Given the description of an element on the screen output the (x, y) to click on. 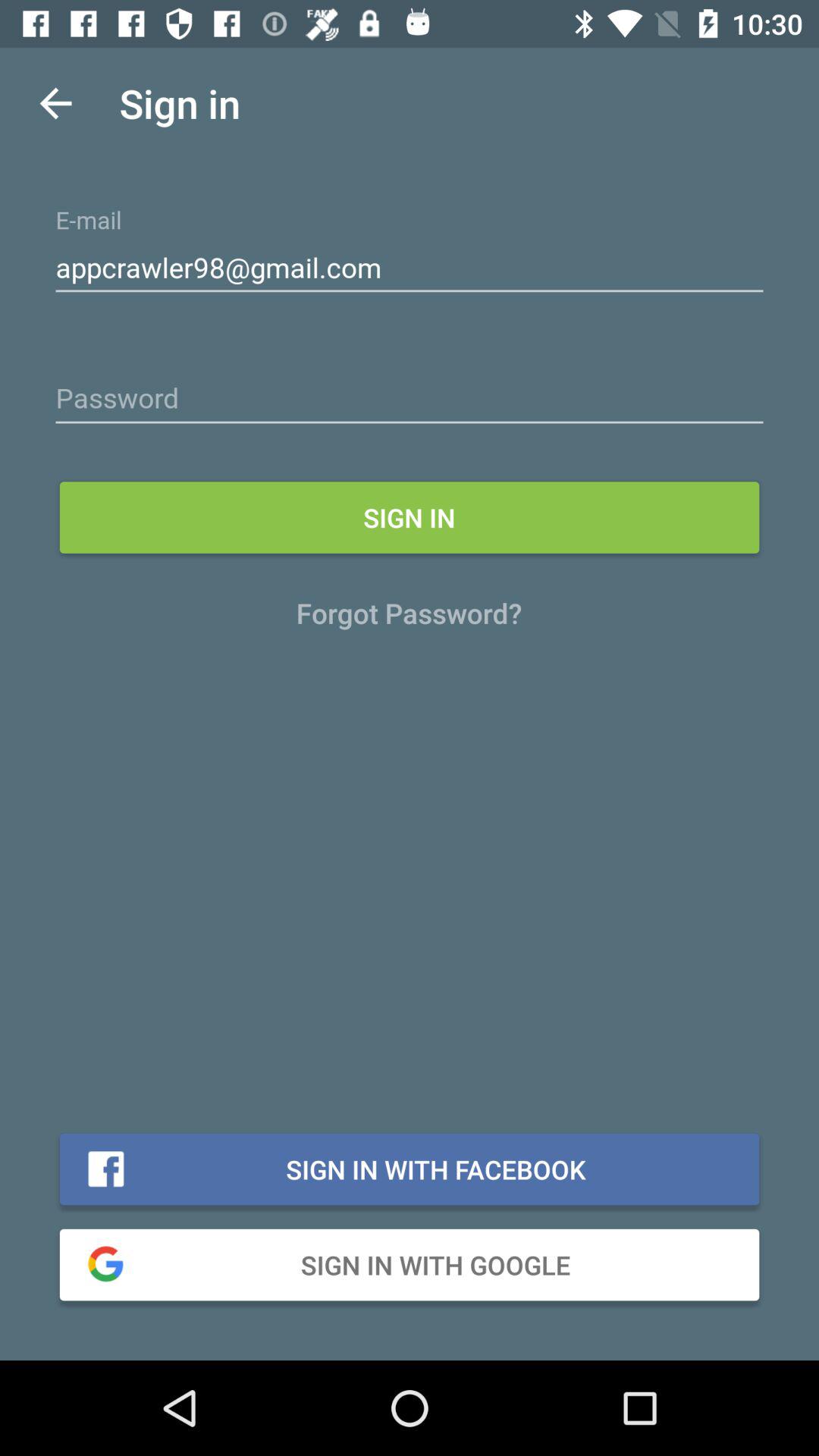
enter password (409, 399)
